Given the description of an element on the screen output the (x, y) to click on. 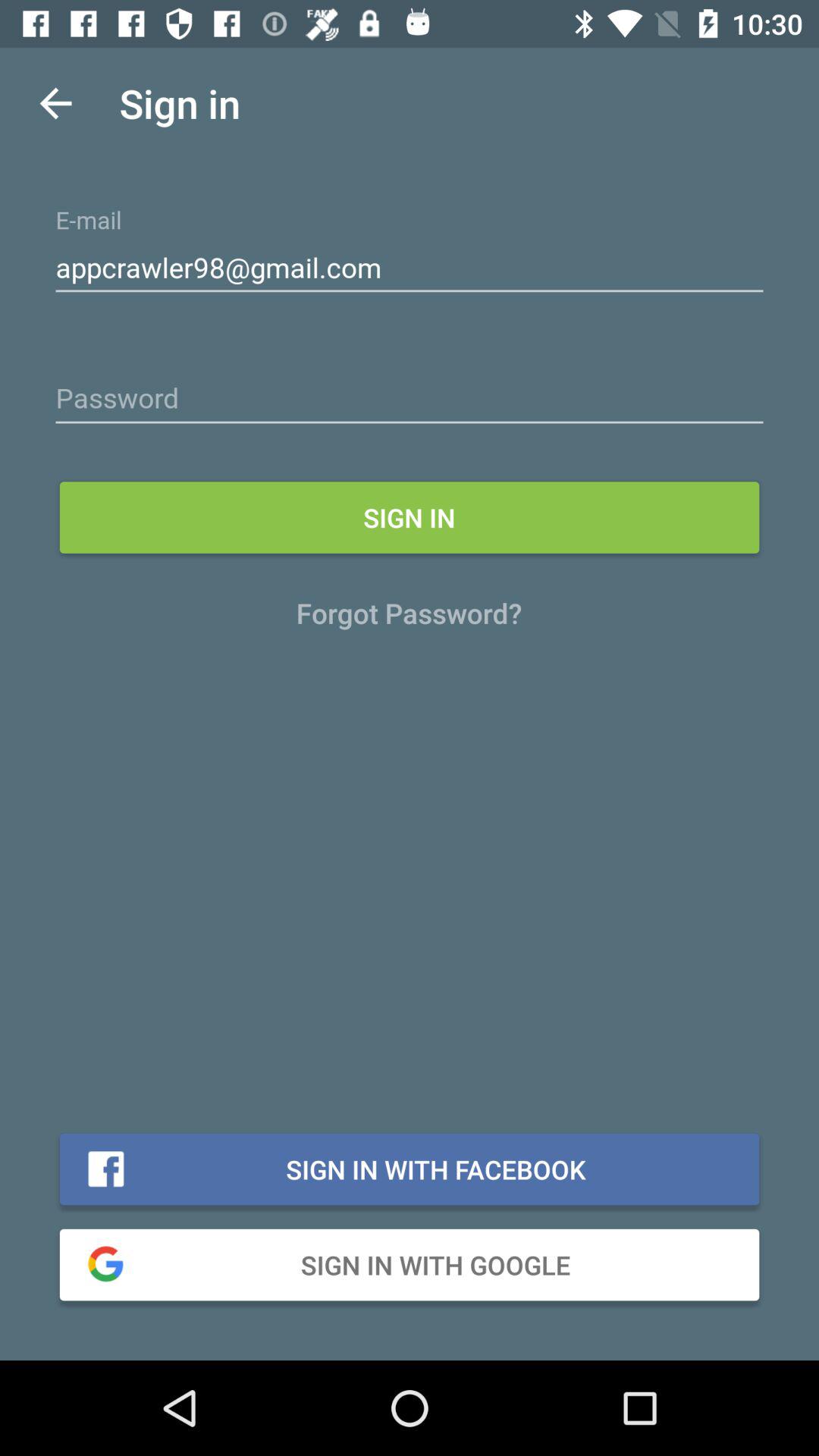
enter password (409, 399)
